Given the description of an element on the screen output the (x, y) to click on. 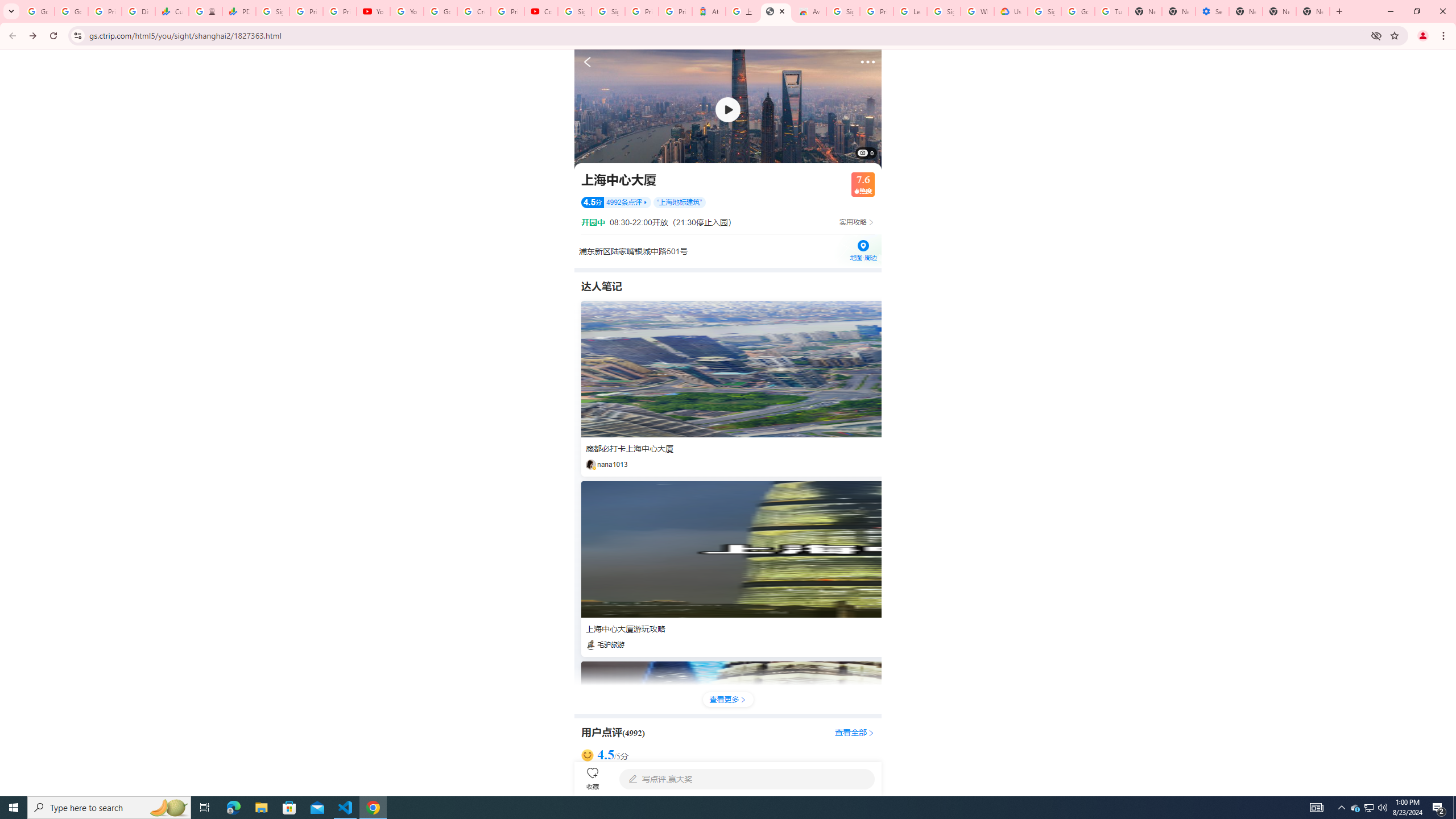
Sign in - Google Accounts (574, 11)
New Tab (1313, 11)
YouTube (372, 11)
PDD Holdings Inc - ADR (PDD) Price & News - Google Finance (238, 11)
To get missing image descriptions, open the context menu. (727, 109)
Atour Hotel - Google hotels (708, 11)
